Given the description of an element on the screen output the (x, y) to click on. 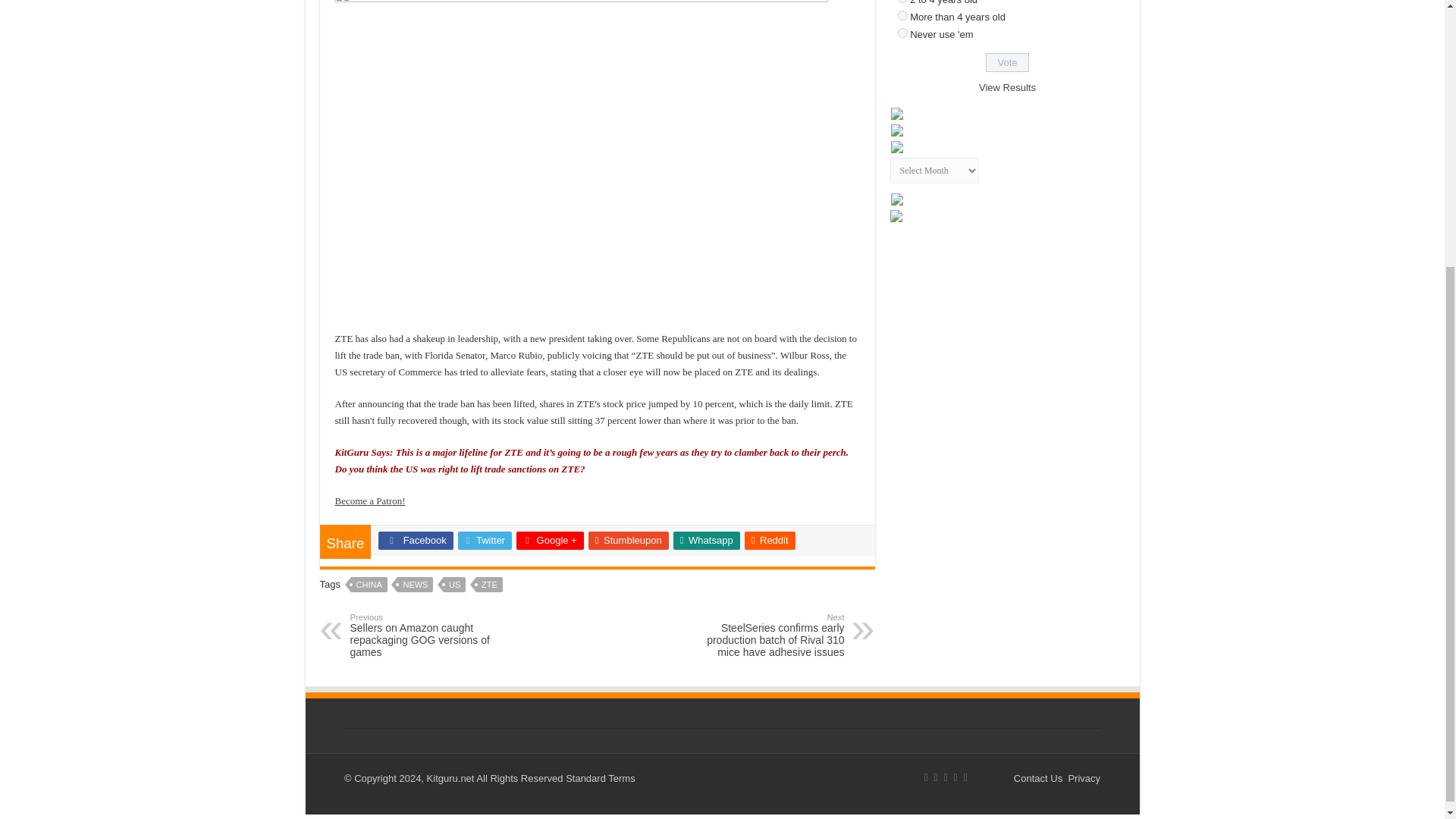
Stumbleupon (628, 540)
1377 (902, 15)
Whatsapp (705, 540)
Become a Patron! (370, 500)
Rss (924, 778)
Twitter (485, 540)
   Vote    (1007, 62)
CHINA (368, 584)
1378 (902, 32)
Facebook (415, 540)
View Results Of This Poll (1006, 87)
Reddit (769, 540)
